Given the description of an element on the screen output the (x, y) to click on. 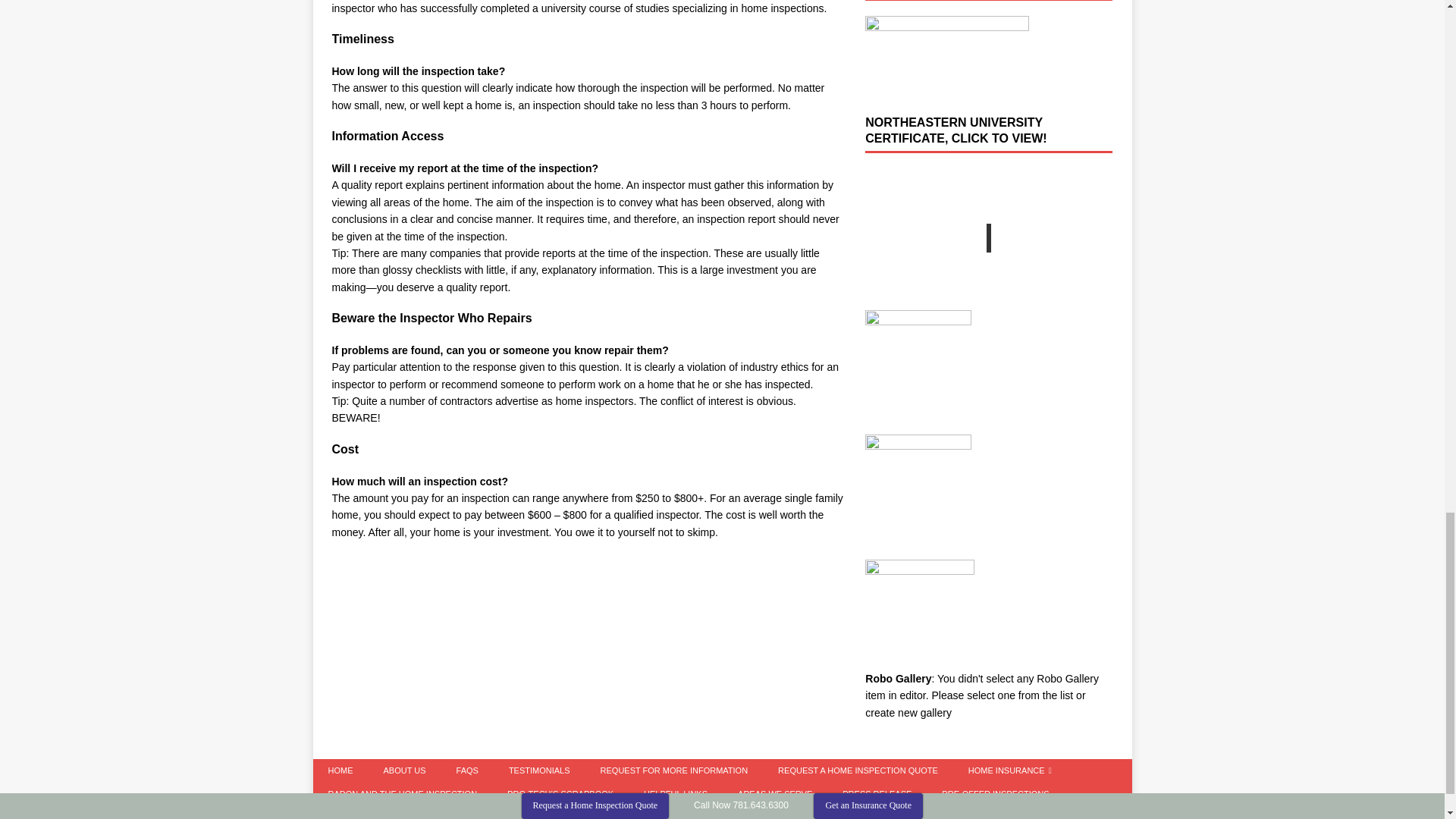
RADON AND THE HOME INSPECTION (402, 793)
REQUEST A HOME INSPECTION QUOTE (857, 770)
HOME INSURANCE (1010, 770)
HOME (340, 770)
FAQS (467, 770)
TESTIMONIALS (539, 770)
ABOUT US (404, 770)
REQUEST FOR MORE INFORMATION (673, 770)
